Given the description of an element on the screen output the (x, y) to click on. 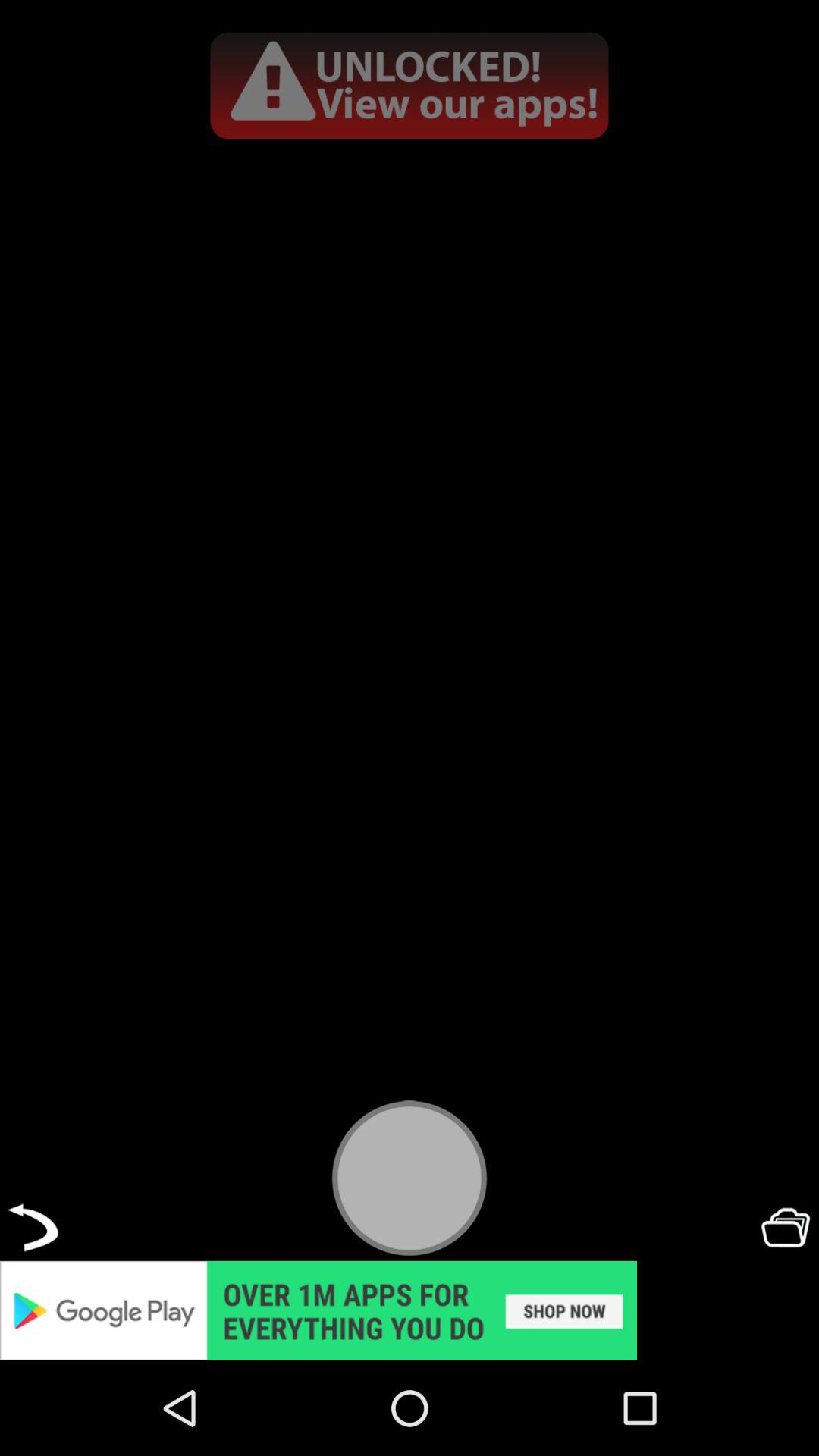
next button (33, 1227)
